Given the description of an element on the screen output the (x, y) to click on. 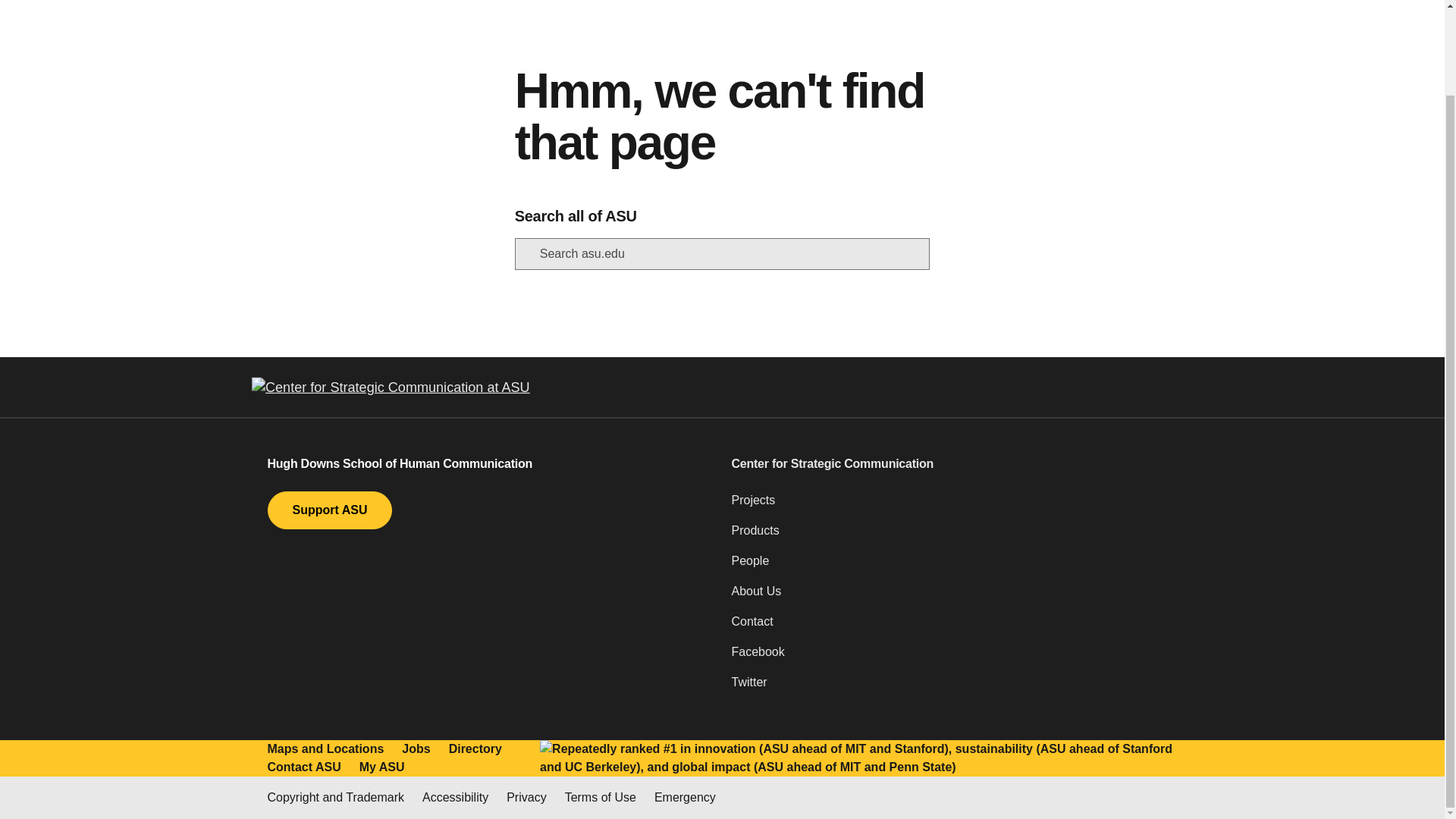
Facebook (953, 657)
Support ASU (328, 510)
People (953, 567)
Copyright and Trademark (335, 797)
Jobs (415, 749)
Center for Strategic Communication (953, 464)
Emergency (684, 797)
Contact ASU (303, 767)
Projects (953, 506)
Directory (475, 749)
Maps and Locations (325, 749)
Contact (953, 627)
About Us (953, 597)
Privacy (526, 797)
Terms of Use (600, 797)
